Given the description of an element on the screen output the (x, y) to click on. 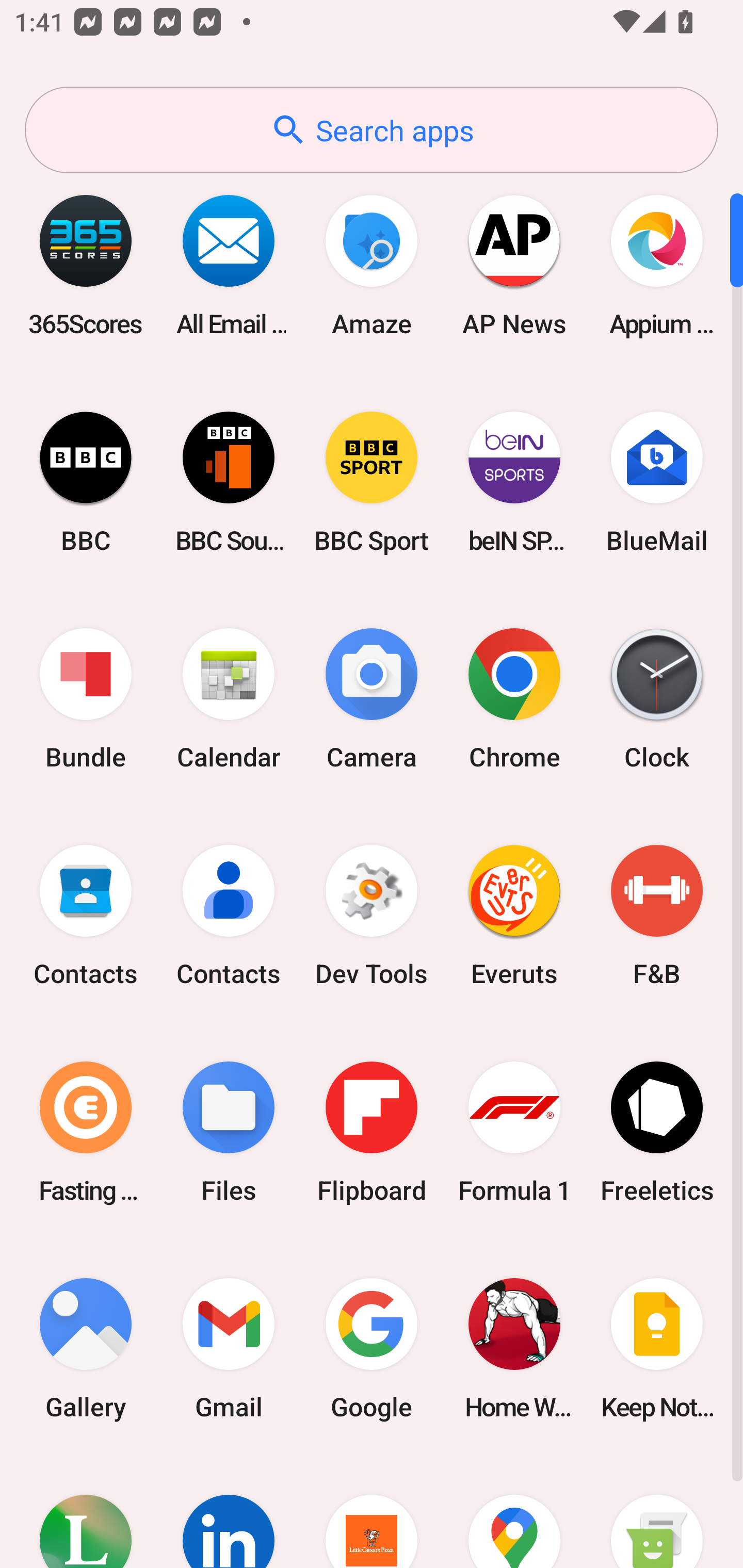
  Search apps (371, 130)
365Scores (85, 264)
All Email Connect (228, 264)
Amaze (371, 264)
AP News (514, 264)
Appium Settings (656, 264)
BBC (85, 482)
BBC Sounds (228, 482)
BBC Sport (371, 482)
beIN SPORTS (514, 482)
BlueMail (656, 482)
Bundle (85, 699)
Calendar (228, 699)
Camera (371, 699)
Chrome (514, 699)
Clock (656, 699)
Contacts (85, 915)
Contacts (228, 915)
Dev Tools (371, 915)
Everuts (514, 915)
F&B (656, 915)
Fasting Coach (85, 1131)
Files (228, 1131)
Flipboard (371, 1131)
Formula 1 (514, 1131)
Freeletics (656, 1131)
Gallery (85, 1348)
Gmail (228, 1348)
Google (371, 1348)
Home Workout (514, 1348)
Keep Notes (656, 1348)
Lifesum (85, 1512)
LinkedIn (228, 1512)
Little Caesars Pizza (371, 1512)
Maps (514, 1512)
Messaging (656, 1512)
